Given the description of an element on the screen output the (x, y) to click on. 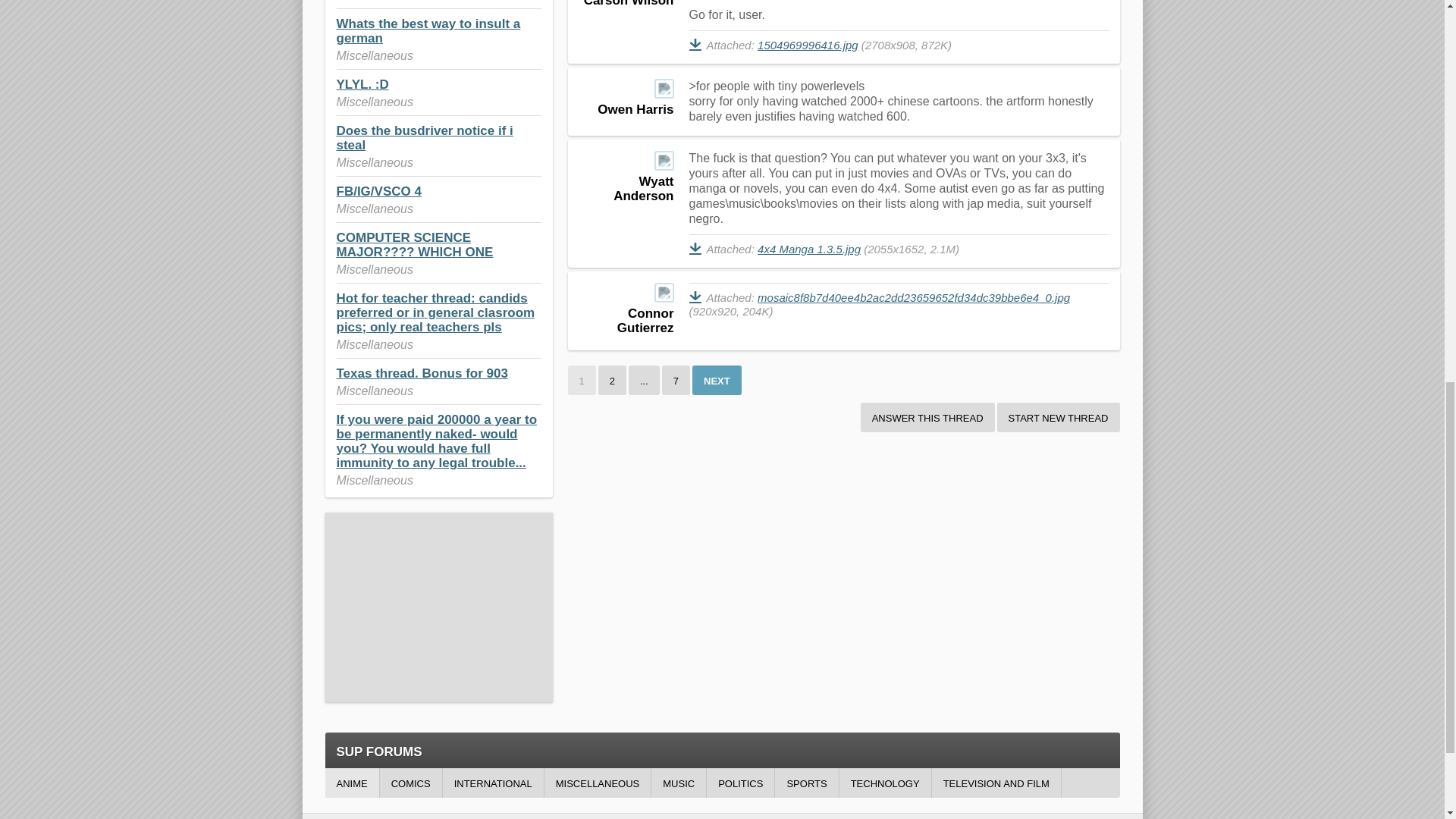
ANSWER THIS THREAD (927, 417)
7 (676, 379)
Does the busdriver notice if i steal (424, 137)
4x4 Manga 1.3.5.jpg (808, 248)
START NEW THREAD (1058, 417)
NEXT (717, 379)
Texas thread. Bonus for 903 (422, 373)
2 (612, 379)
Whats the best way to insult a german (428, 30)
1504969996416.jpg (808, 44)
COMPUTER SCIENCE MAJOR???? WHICH ONE (414, 244)
YLYL. :D (362, 83)
... (643, 379)
